Given the description of an element on the screen output the (x, y) to click on. 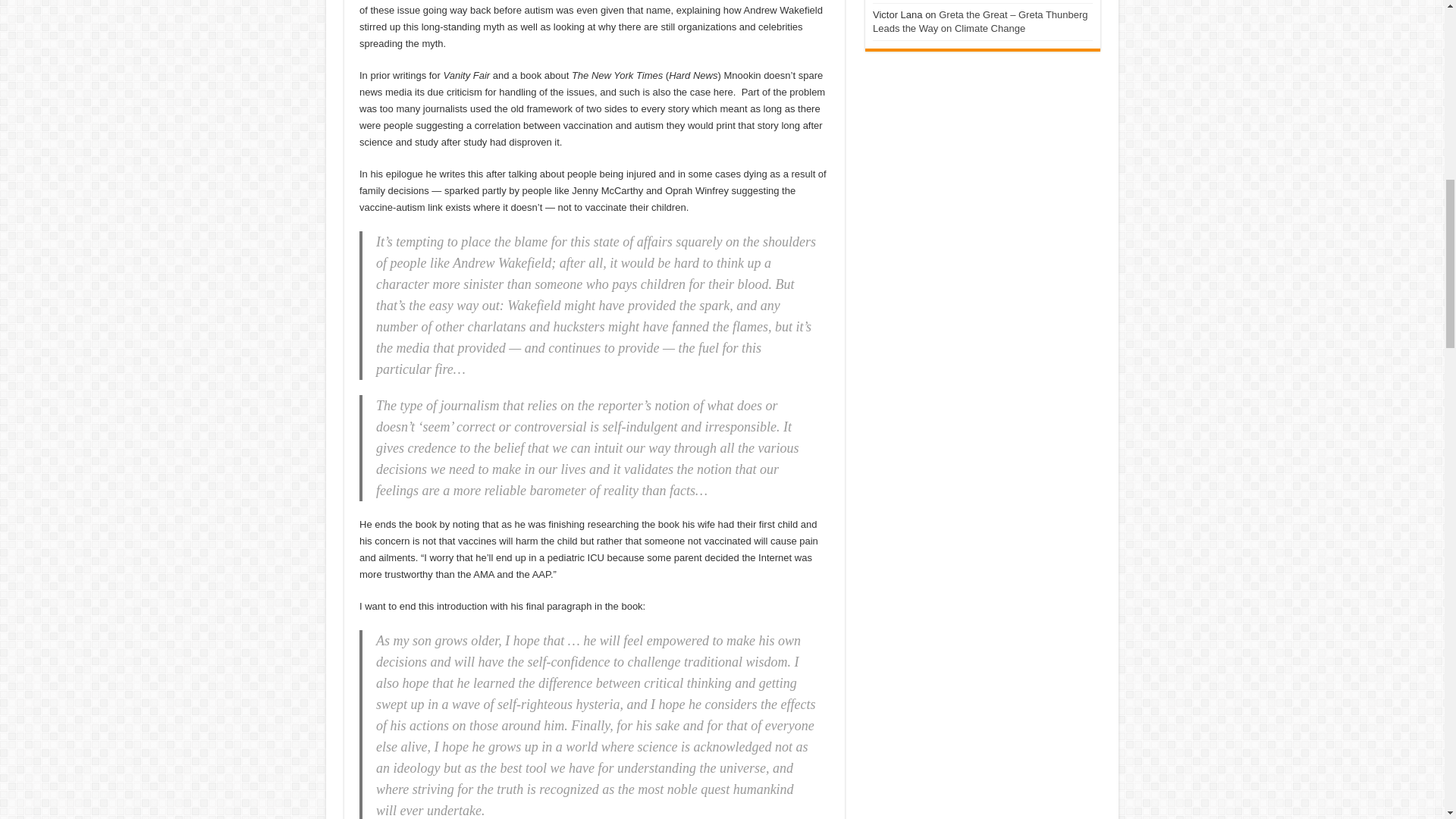
Scroll To Top (1421, 60)
